Given the description of an element on the screen output the (x, y) to click on. 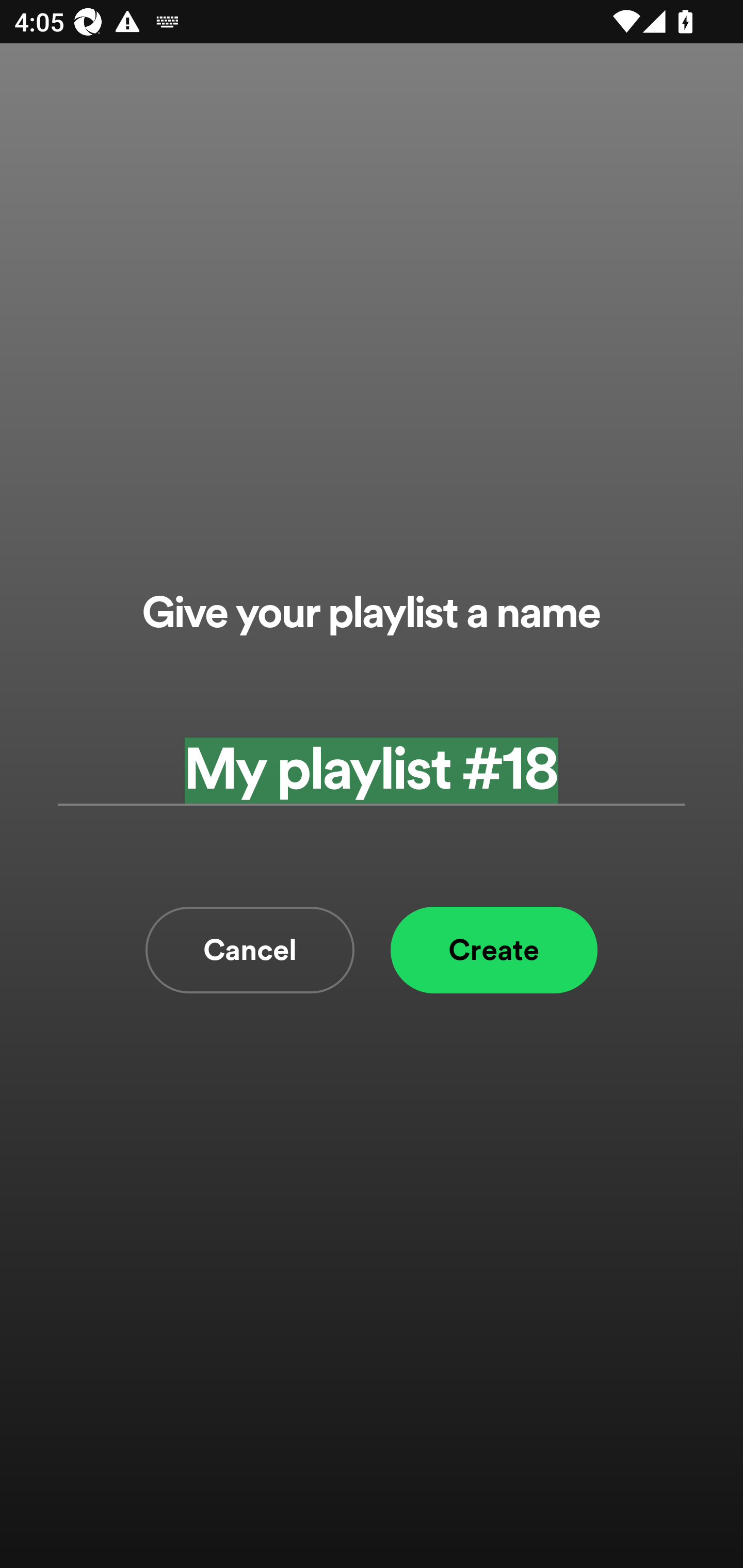
My playlist #18 Add a playlist name (371, 769)
Cancel (249, 950)
Create (493, 950)
